Given the description of an element on the screen output the (x, y) to click on. 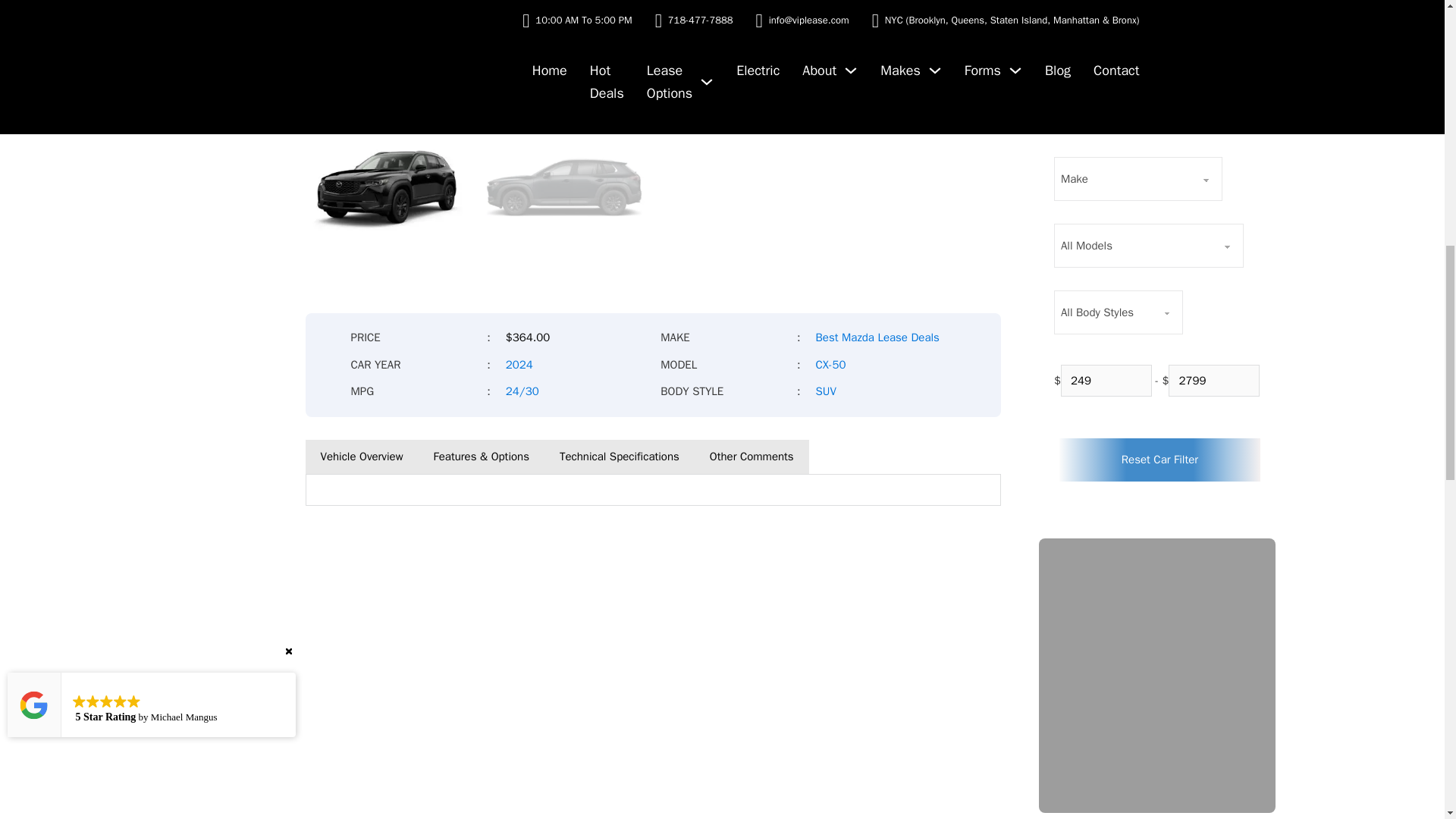
2799 (1214, 380)
2024 Mazda CX-50 (652, 55)
Reset Car Filter (1159, 459)
249 (1106, 380)
Reset Car Filter (1159, 459)
